Given the description of an element on the screen output the (x, y) to click on. 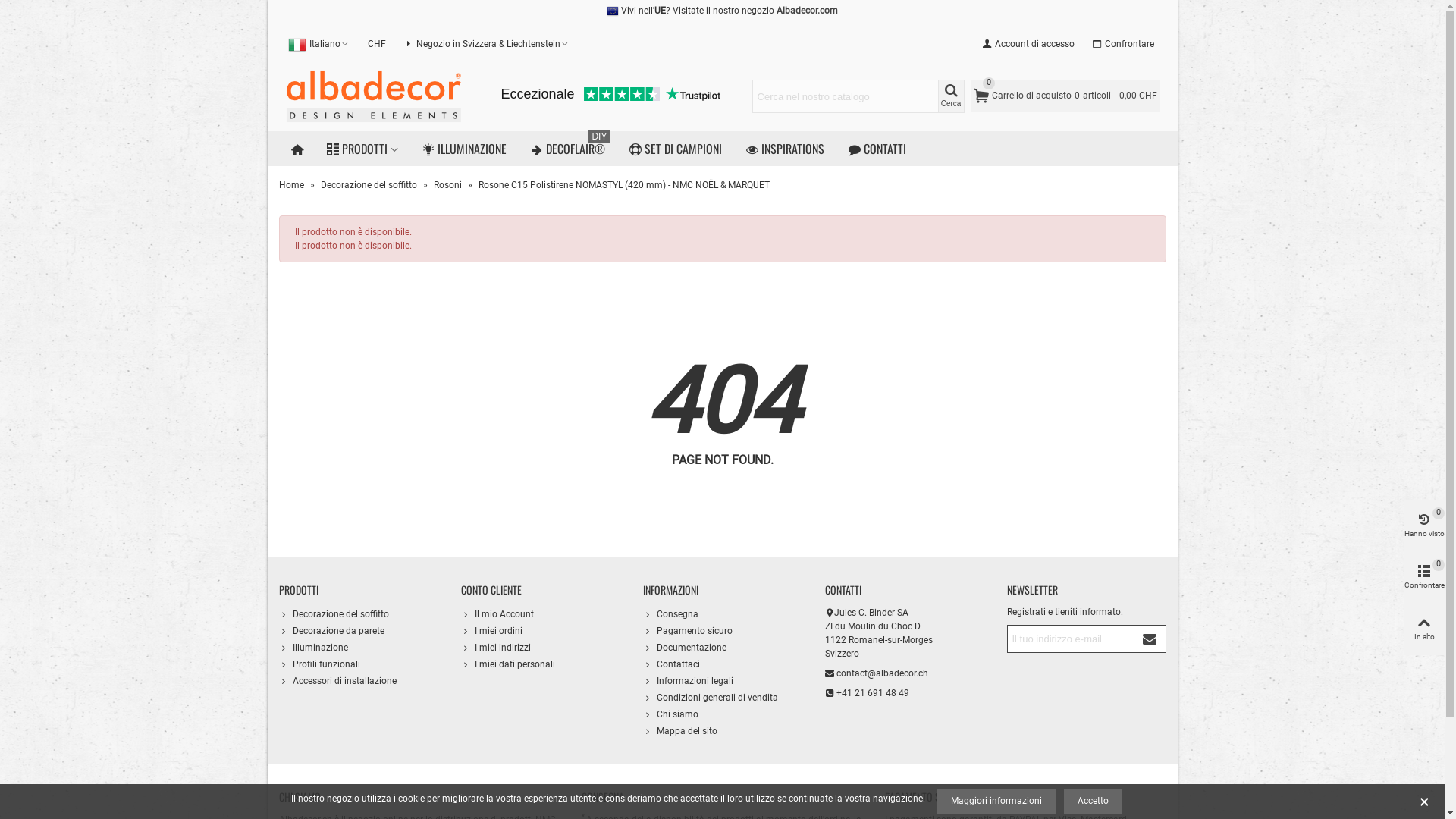
I miei ordini Element type: text (540, 630)
Home Element type: text (292, 184)
Contattaci Element type: text (722, 663)
Accessori di installazione Element type: text (358, 680)
Cerca Element type: text (950, 96)
INSPIRATIONS Element type: text (785, 148)
Illuminazione Element type: text (358, 647)
I miei dati personali Element type: text (540, 663)
Confrontare
0 Element type: text (1423, 577)
Pagamento sicuro Element type: text (722, 630)
Consegna Element type: text (722, 613)
Maggiori informazioni Element type: text (996, 801)
Il mio Account Element type: text (540, 613)
I miei indirizzi Element type: text (540, 647)
Documentazione Element type: text (722, 647)
Decorazione da parete Element type: text (358, 630)
Chi siamo Element type: text (722, 714)
Rosoni Element type: text (448, 184)
ILLUMINAZIONE Element type: text (464, 148)
Decorazione del soffitto Element type: text (369, 184)
Account di accesso Element type: text (1028, 43)
Hanno visto
0 Element type: text (1423, 526)
Decorazione del soffitto Element type: text (358, 613)
Informazioni legali Element type: text (722, 680)
0
Carrello di acquisto
0
articoli
-
0,00 CHF Element type: text (1065, 96)
In alto Element type: text (1423, 629)
PRODOTTI Element type: text (362, 148)
CONTATTI Element type: text (877, 148)
SET DI CAMPIONI Element type: text (675, 148)
Albadecor.com Element type: text (806, 10)
Customer reviews powered by Trustpilot Element type: hover (610, 96)
Confrontare Element type: text (1123, 43)
Condizioni generali di vendita Element type: text (722, 697)
Profili funzionali Element type: text (358, 663)
Mappa del sito Element type: text (722, 730)
Accetto Element type: text (1092, 801)
Albadecor Element type: hover (373, 95)
